Given the description of an element on the screen output the (x, y) to click on. 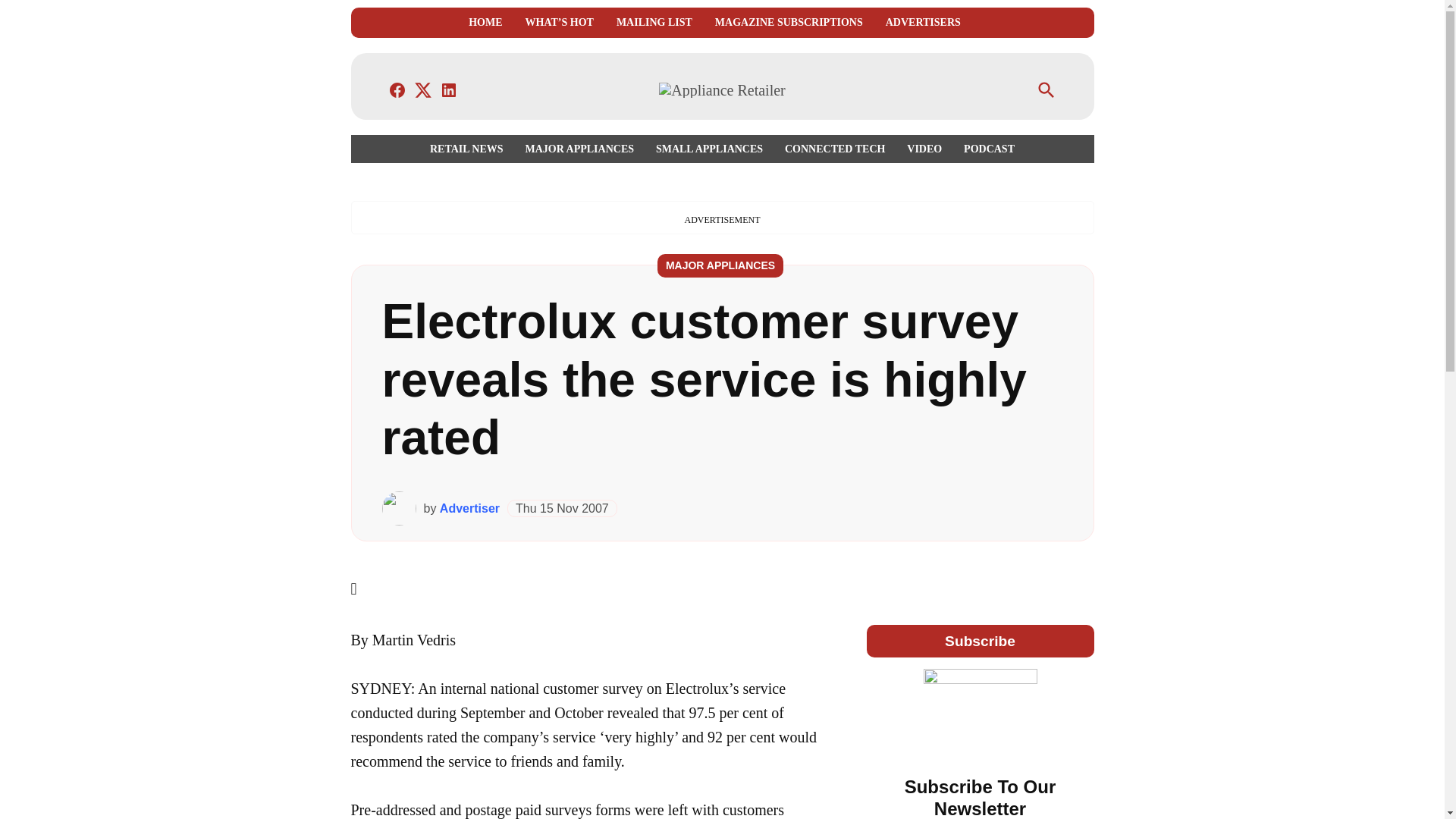
ADVERTISERS (922, 22)
MAJOR APPLIANCES (579, 148)
SMALL APPLIANCES (708, 148)
LINKEDIN (448, 90)
Appliance Retailer (945, 100)
HOME (484, 22)
Advertiser (469, 508)
MAGAZINE SUBSCRIPTIONS (788, 22)
MAJOR APPLIANCES (720, 265)
